Given the description of an element on the screen output the (x, y) to click on. 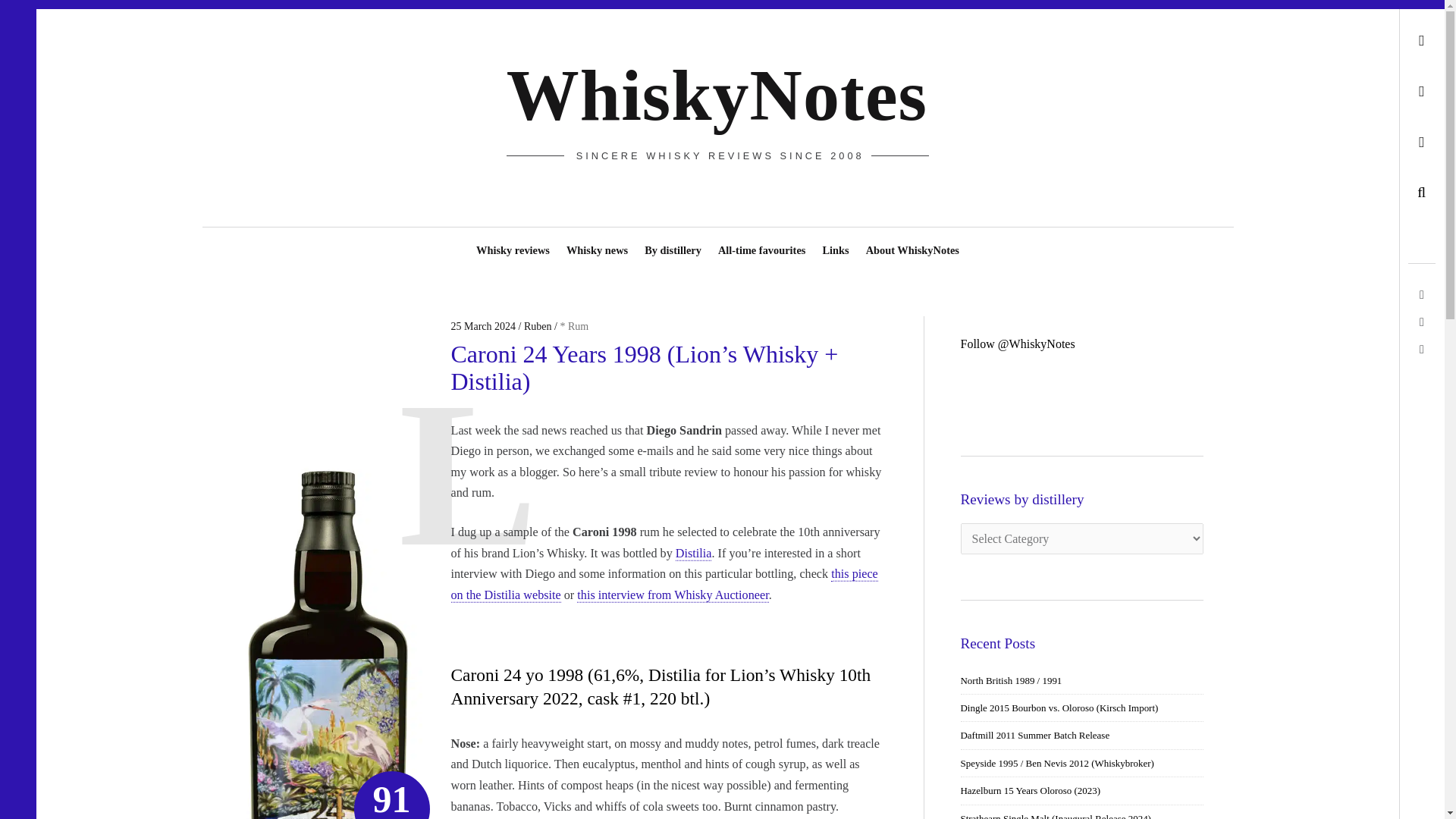
Whisky reviews (512, 242)
this interview from Whisky Auctioneer (672, 594)
About WhiskyNotes (912, 242)
WhiskyNotes (716, 94)
this piece on the Distilia website (663, 584)
All-time favourites (761, 242)
Distilia (693, 553)
Whisky news (596, 242)
Links (835, 242)
By distillery (672, 242)
